Given the description of an element on the screen output the (x, y) to click on. 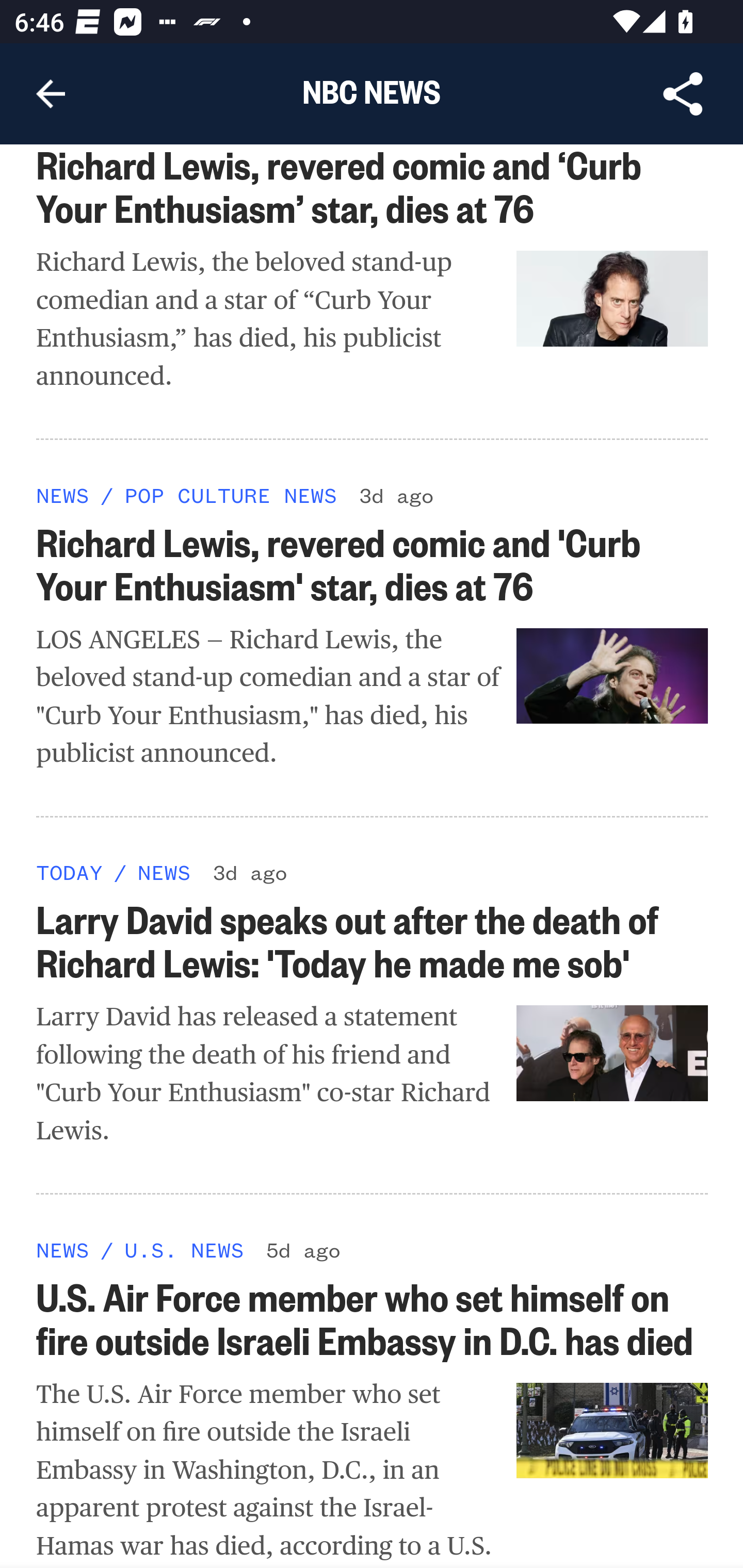
Navigate up (50, 93)
Share Article, button (683, 94)
NEWS NEWS NEWS (63, 493)
POP CULTURE NEWS POP CULTURE NEWS POP CULTURE NEWS (229, 493)
TODAY TODAY TODAY (69, 871)
NEWS NEWS NEWS (164, 871)
larry-david-richard-lewis-death-rcna141044 (612, 1053)
NEWS NEWS NEWS (63, 1248)
U.S. NEWS U.S. NEWS U.S. NEWS (183, 1248)
